Given the description of an element on the screen output the (x, y) to click on. 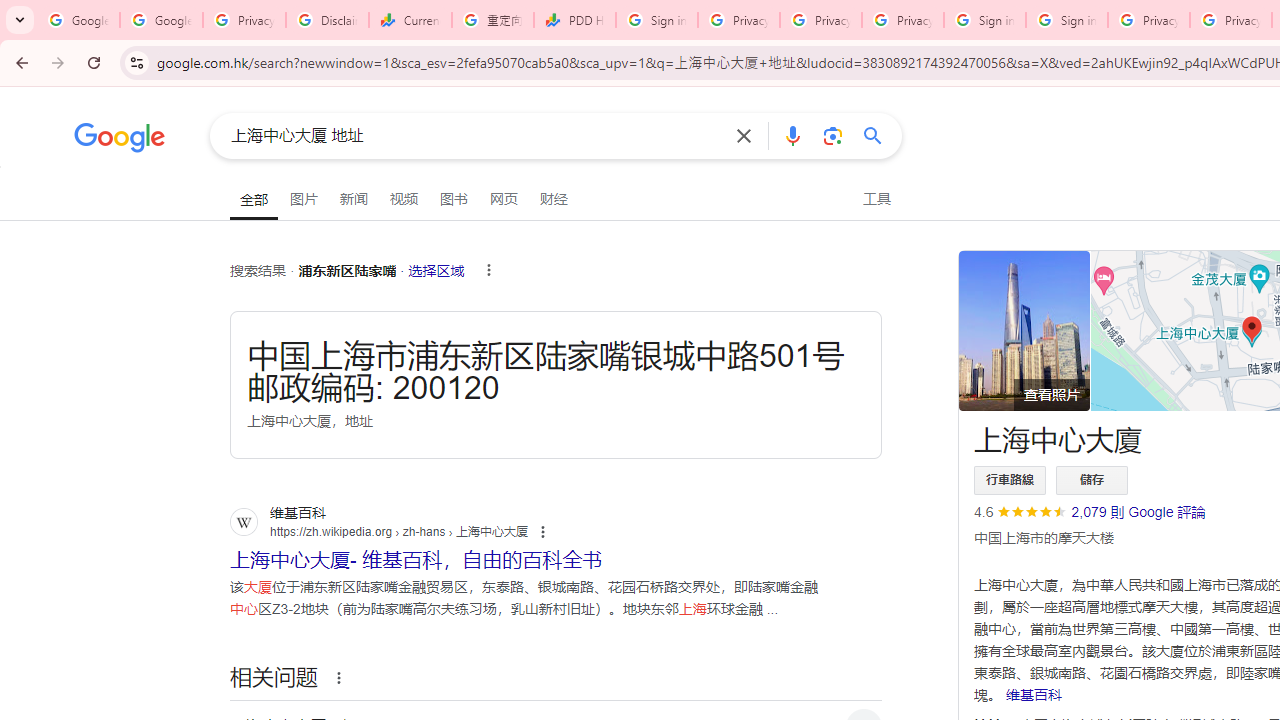
PDD Holdings Inc - ADR (PDD) Price & News - Google Finance (574, 20)
Privacy Checkup (820, 20)
